Given the description of an element on the screen output the (x, y) to click on. 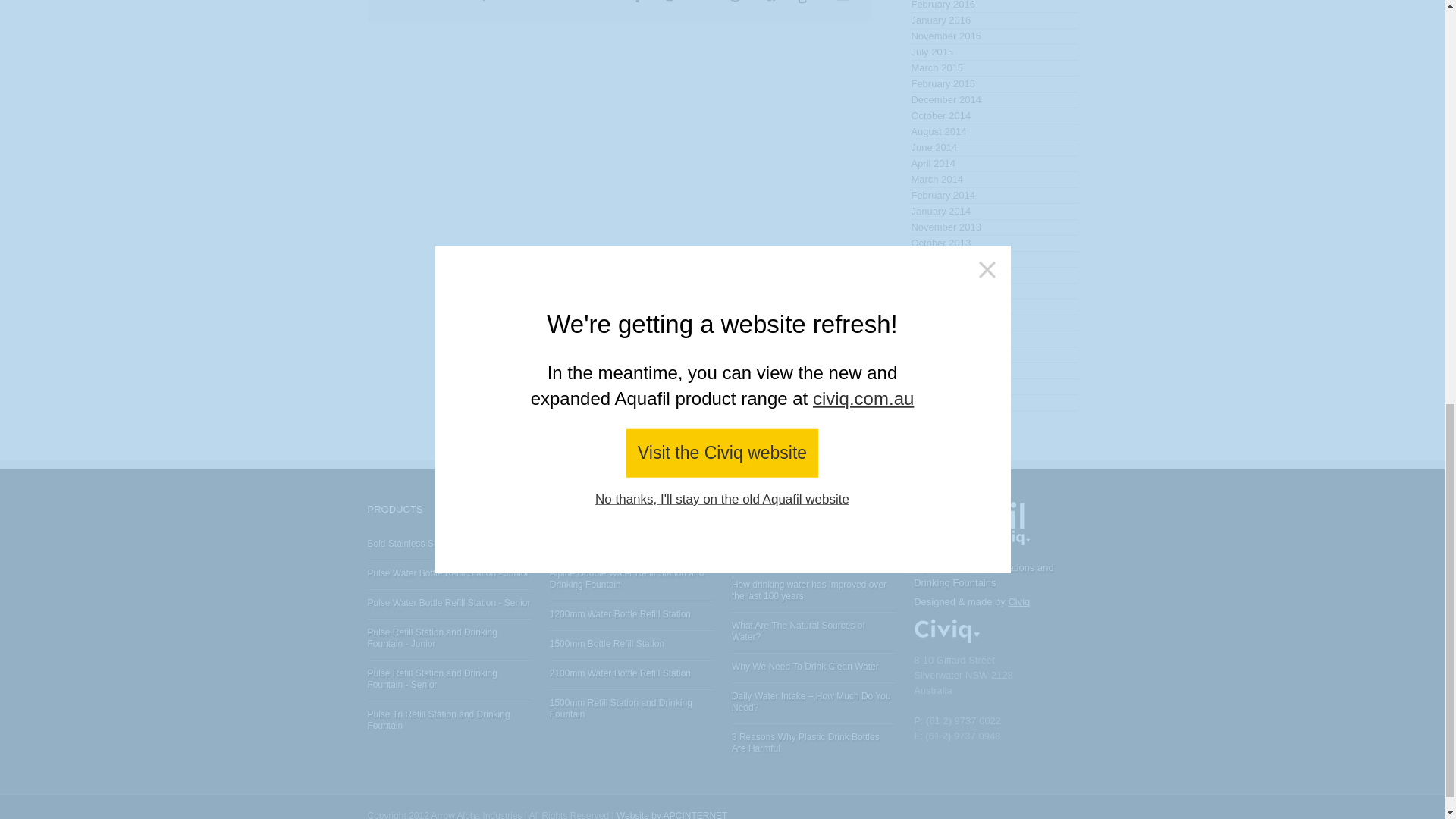
Look What Are The Natural Sources of Water? (798, 630)
Reddit (735, 2)
Look How drinking water has improved over the last 100 years (809, 590)
Email (842, 2)
Look 1200mm Water Bottle Refill Station (620, 614)
Look Pulse Refill Station and Drinking Fountain - Junior (431, 638)
Look A1 Refill Station with Water Bubbler (622, 543)
Look Pulse Refill Station and Drinking Fountain - Senior (431, 679)
Look Pulse Water Bottle Refill Station - Senior (447, 602)
Look 1500mm Bottle Refill Station (606, 643)
Look 2100mm Water Bottle Refill Station (620, 673)
Look Bold Stainless Steel Refill Station (433, 543)
LinkedIn (700, 2)
Tumblr (770, 2)
